Given the description of an element on the screen output the (x, y) to click on. 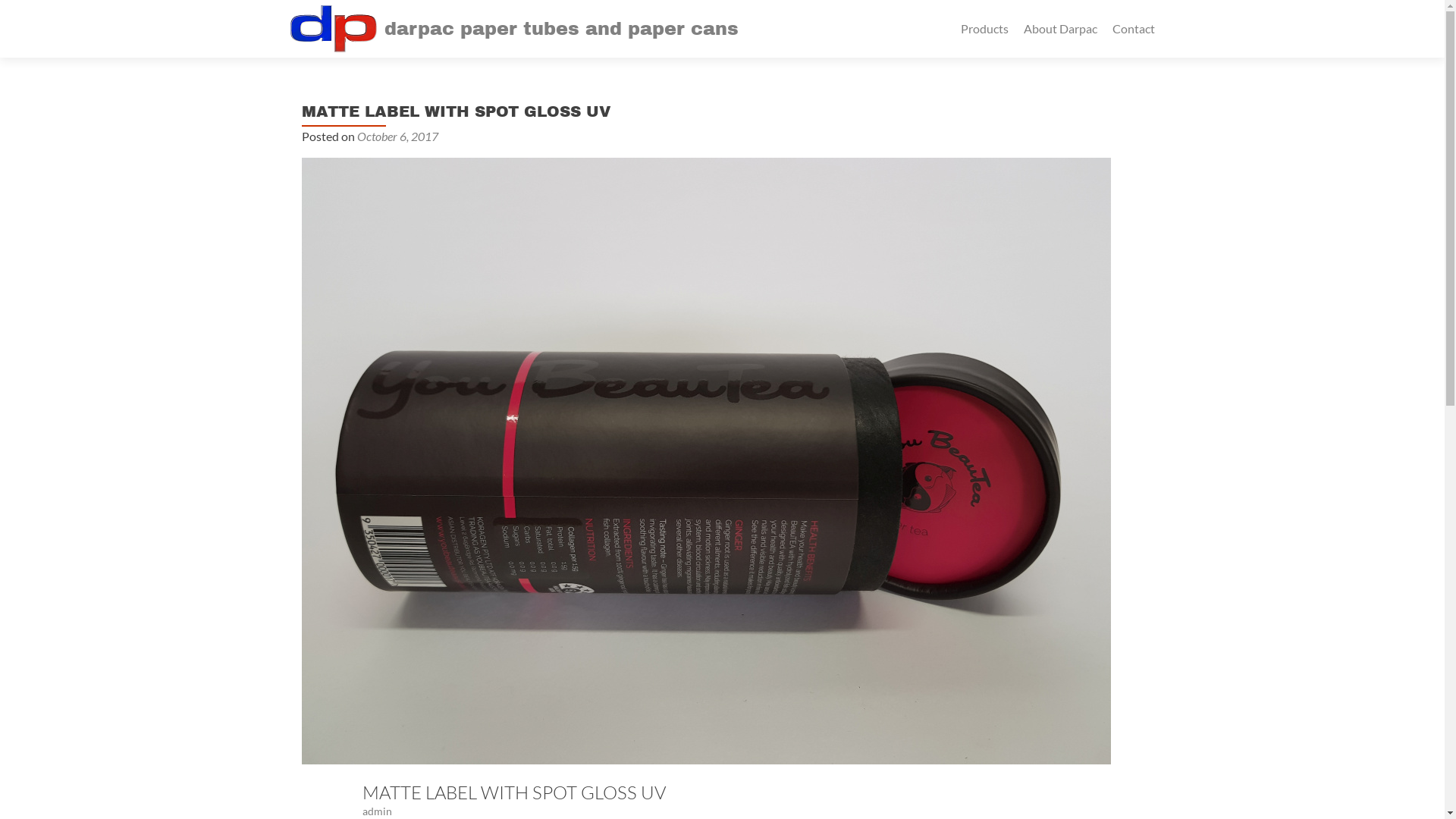
darpac paper tubes and paper cans Element type: text (560, 28)
Products Element type: text (983, 28)
admin Element type: text (377, 810)
About Darpac Element type: text (1060, 28)
October 6, 2017 Element type: text (396, 135)
Contact Element type: text (1132, 28)
